Given the description of an element on the screen output the (x, y) to click on. 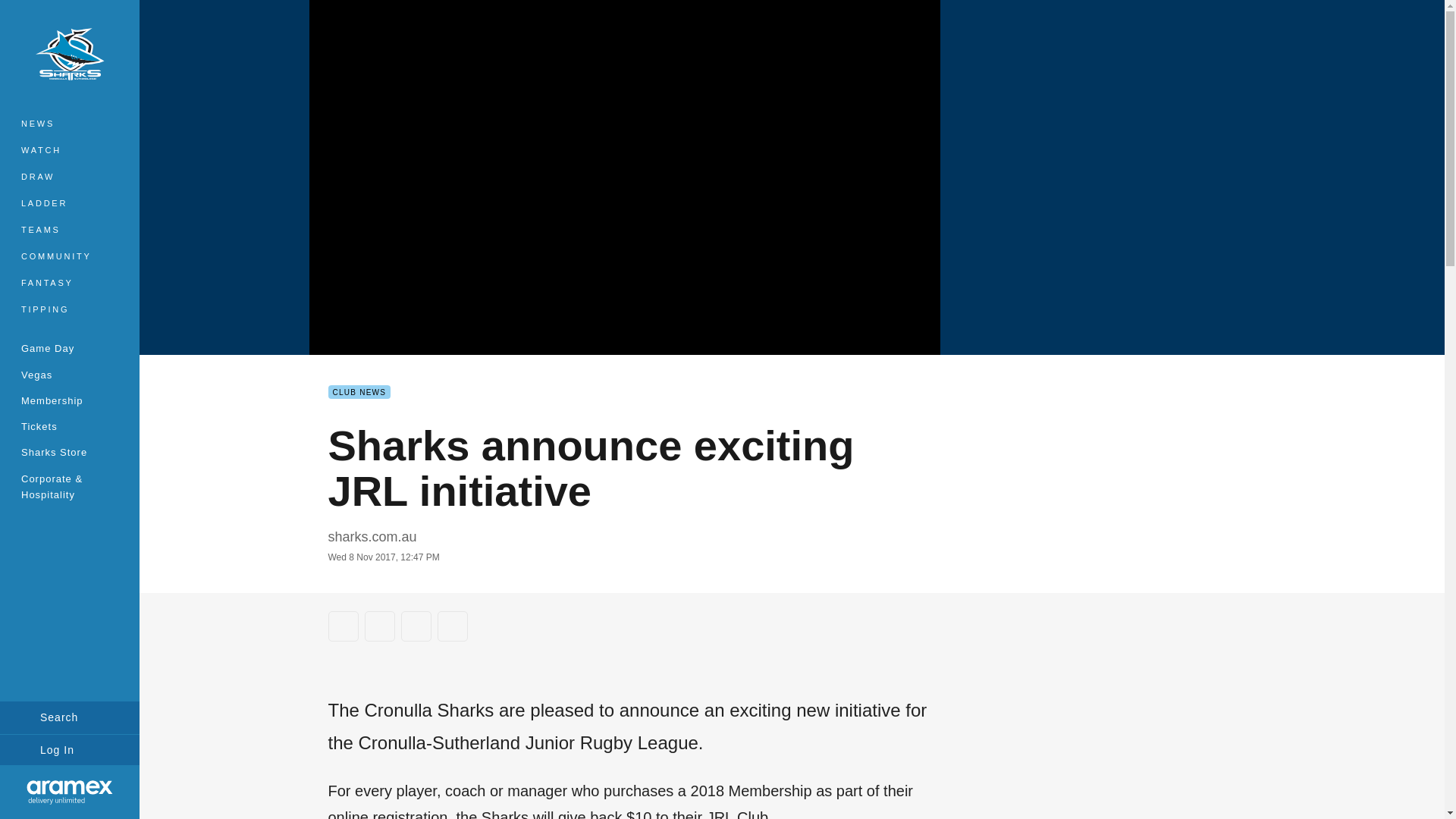
FANTASY (69, 283)
LADDER (69, 203)
Vegas (69, 374)
Tickets (69, 425)
TIPPING (69, 309)
Share via Facebook (342, 625)
CLUB NEWS (358, 391)
Share via Email (451, 625)
Share via Twitter (379, 625)
Log In (69, 749)
TEAMS (69, 230)
WATCH (69, 150)
DRAW (69, 176)
Share via Reddit (415, 625)
COMMUNITY (69, 256)
